Given the description of an element on the screen output the (x, y) to click on. 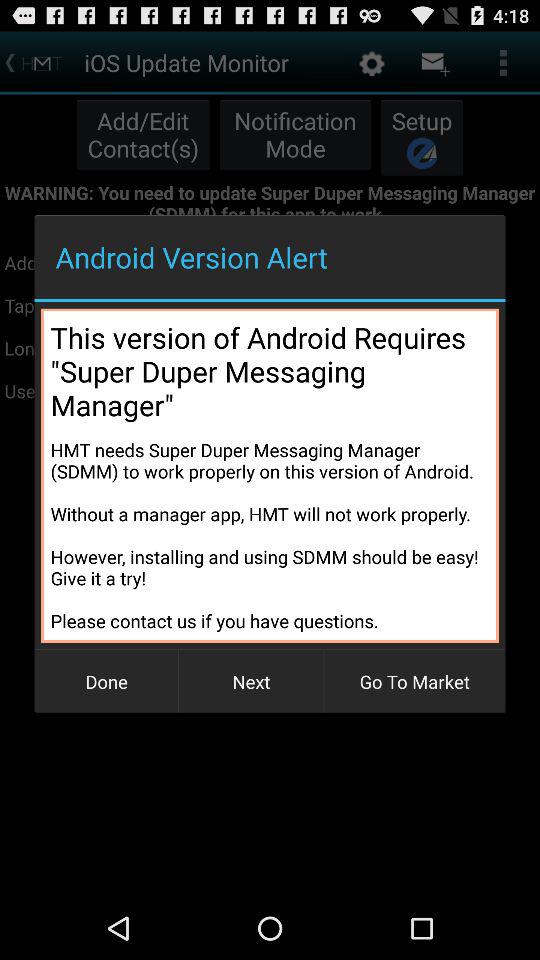
turn off item next to next button (414, 681)
